Given the description of an element on the screen output the (x, y) to click on. 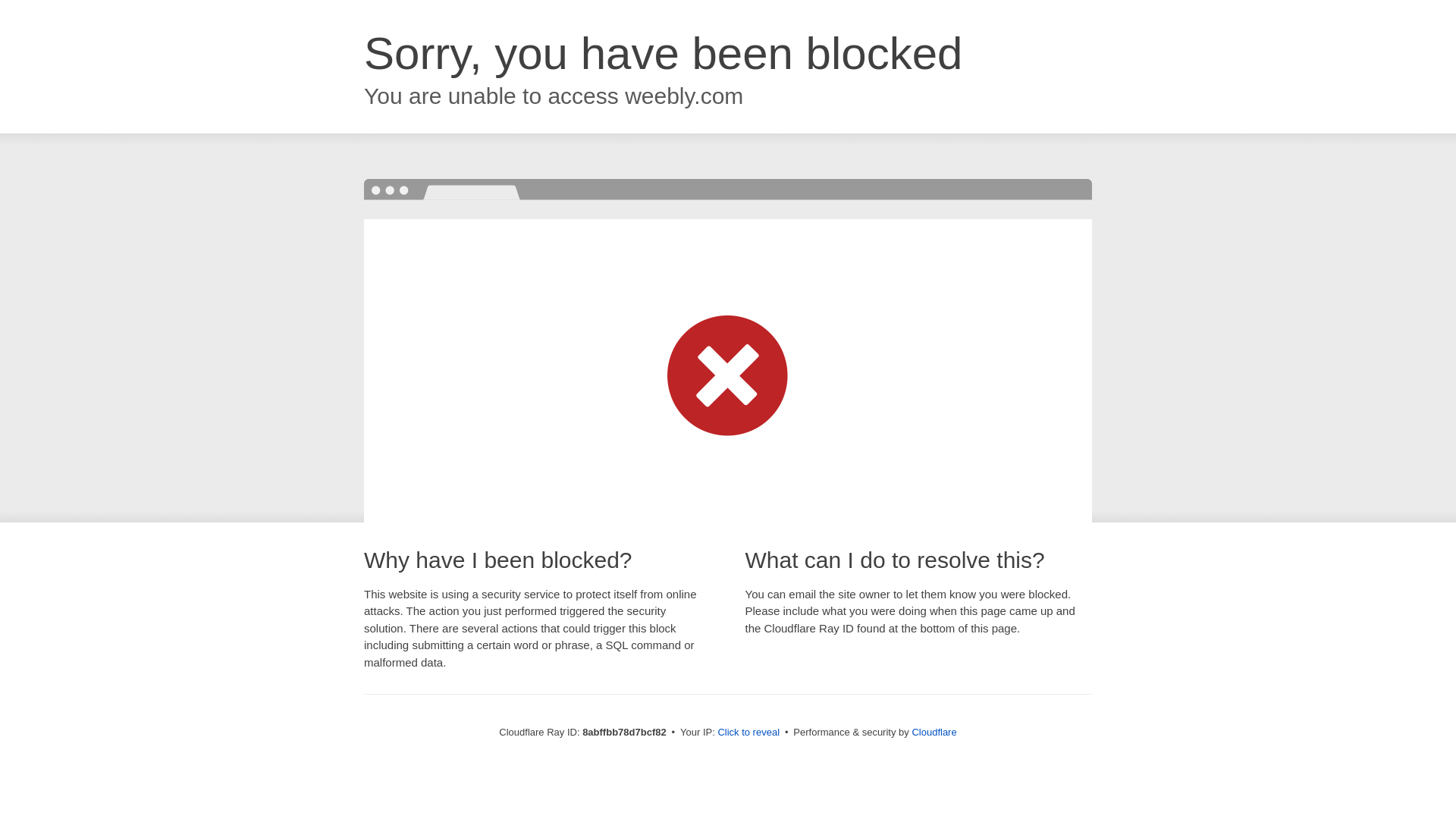
Click to reveal (747, 732)
Cloudflare (933, 731)
